Given the description of an element on the screen output the (x, y) to click on. 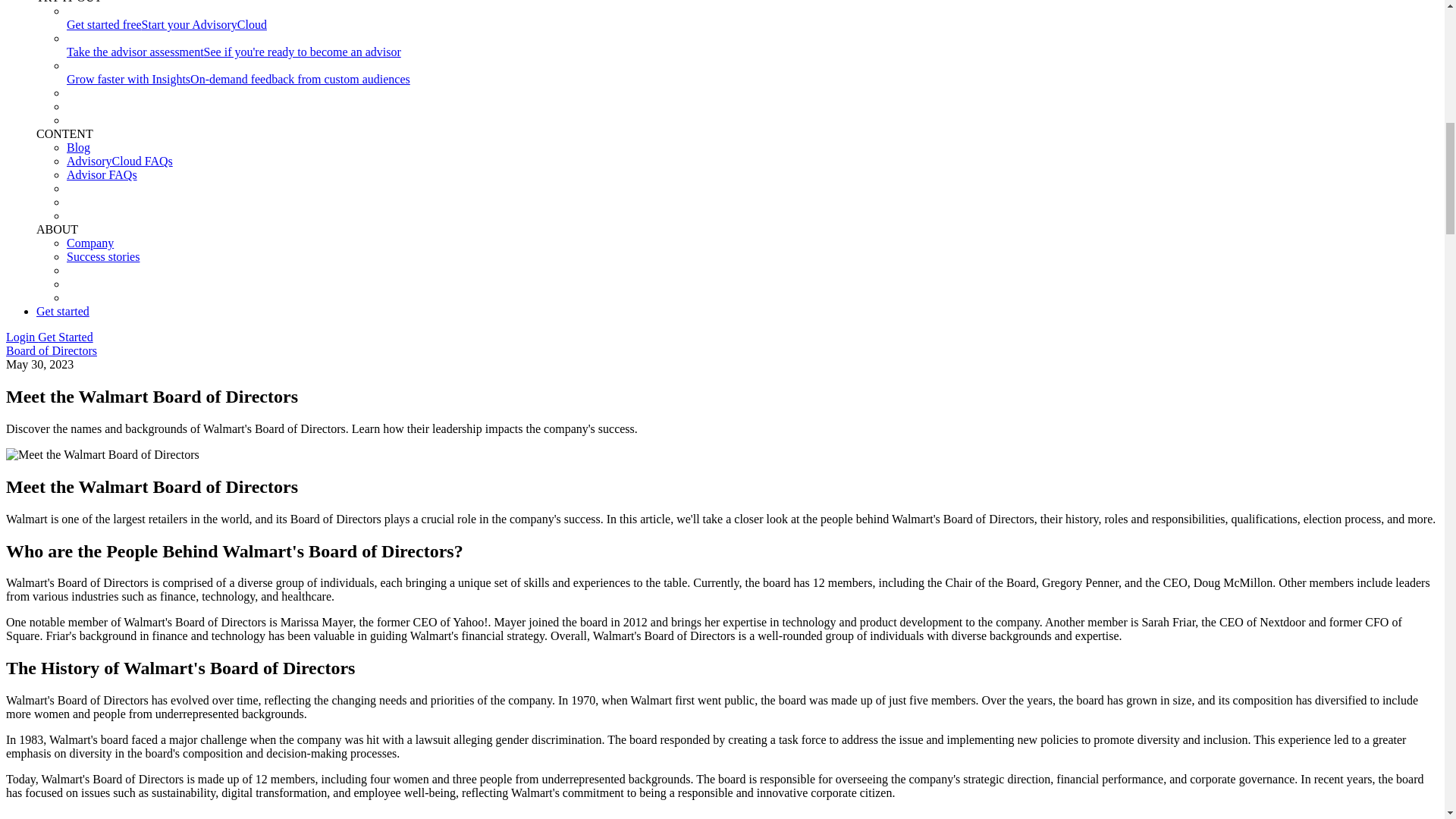
Start your AdvisoryCloud (203, 24)
See if you're ready to become an advisor (302, 51)
Get started free (103, 24)
Blog (78, 146)
AdvisoryCloud FAQs (119, 160)
On-demand feedback from custom audiences (300, 78)
Advisor FAQs (101, 174)
Grow faster with Insights (128, 78)
Take the advisor assessment (134, 51)
